Given the description of an element on the screen output the (x, y) to click on. 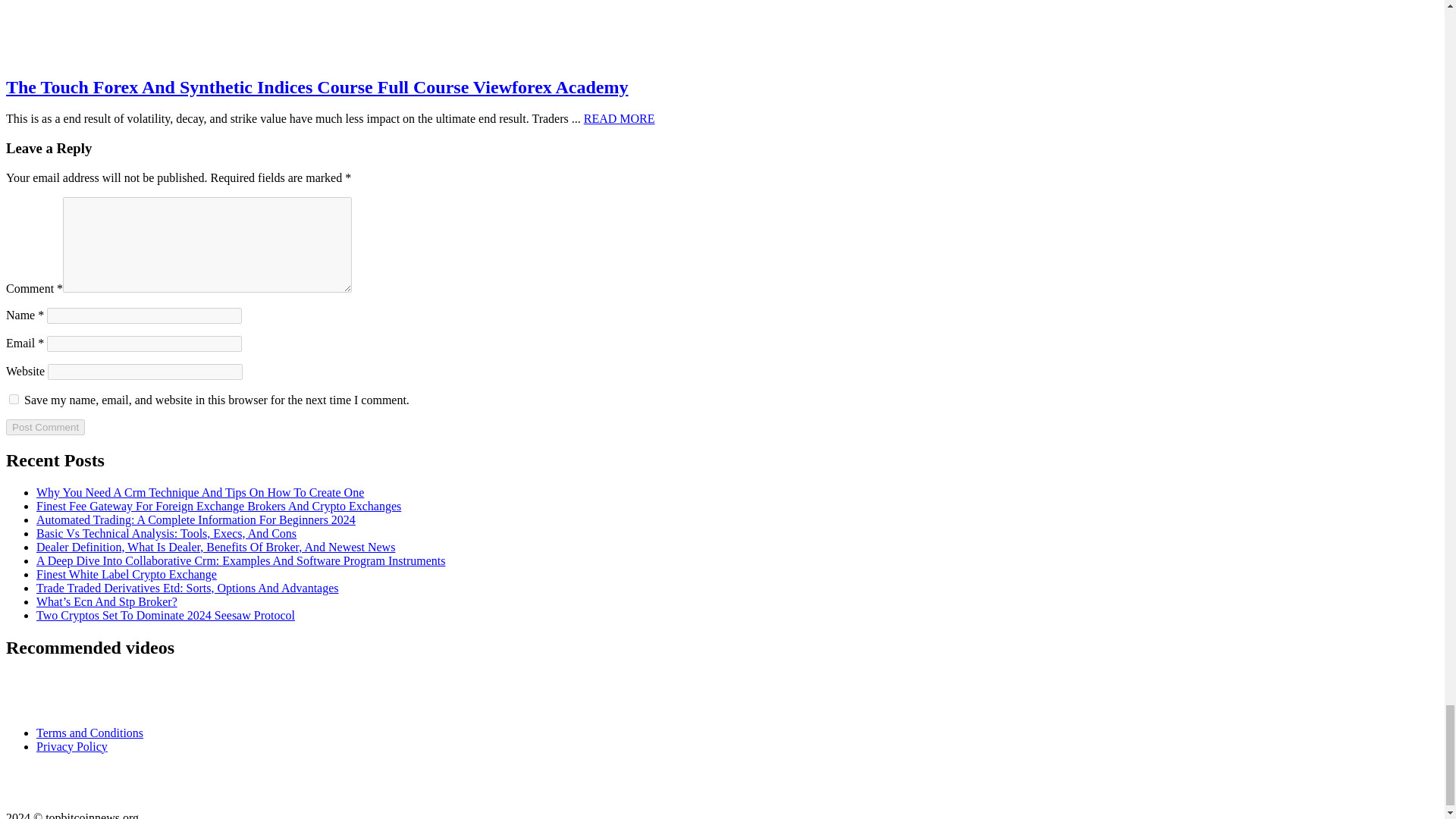
Post Comment (44, 426)
yes (13, 398)
DMCA.com Protection Status (81, 790)
